Given the description of an element on the screen output the (x, y) to click on. 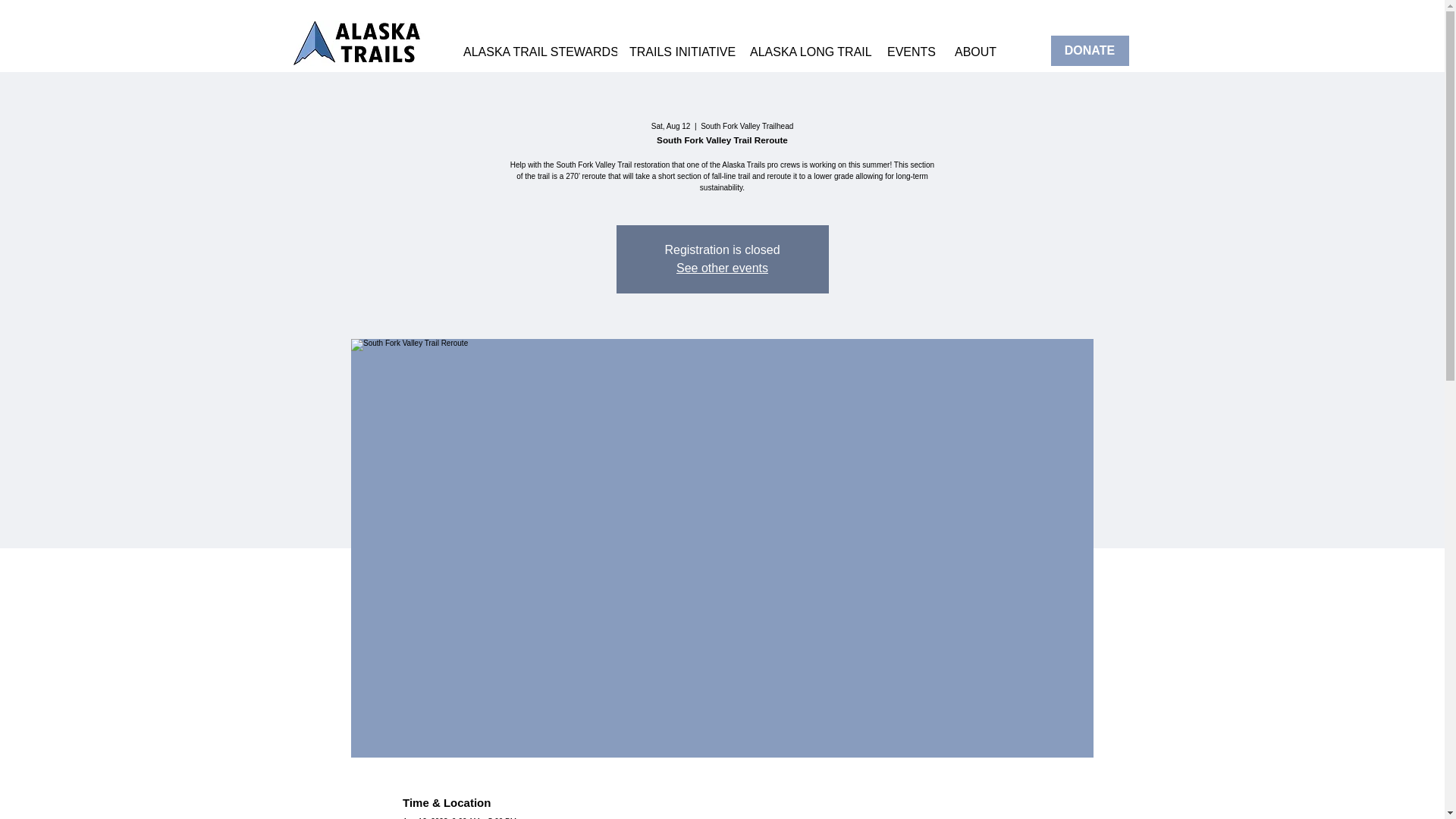
ALASKA TRAIL STEWARDS (534, 51)
See other events (722, 267)
TRAILS INITIATIVE (677, 51)
ABOUT (974, 51)
DONATE (1090, 51)
ALASKA LONG TRAIL (806, 51)
